Given the description of an element on the screen output the (x, y) to click on. 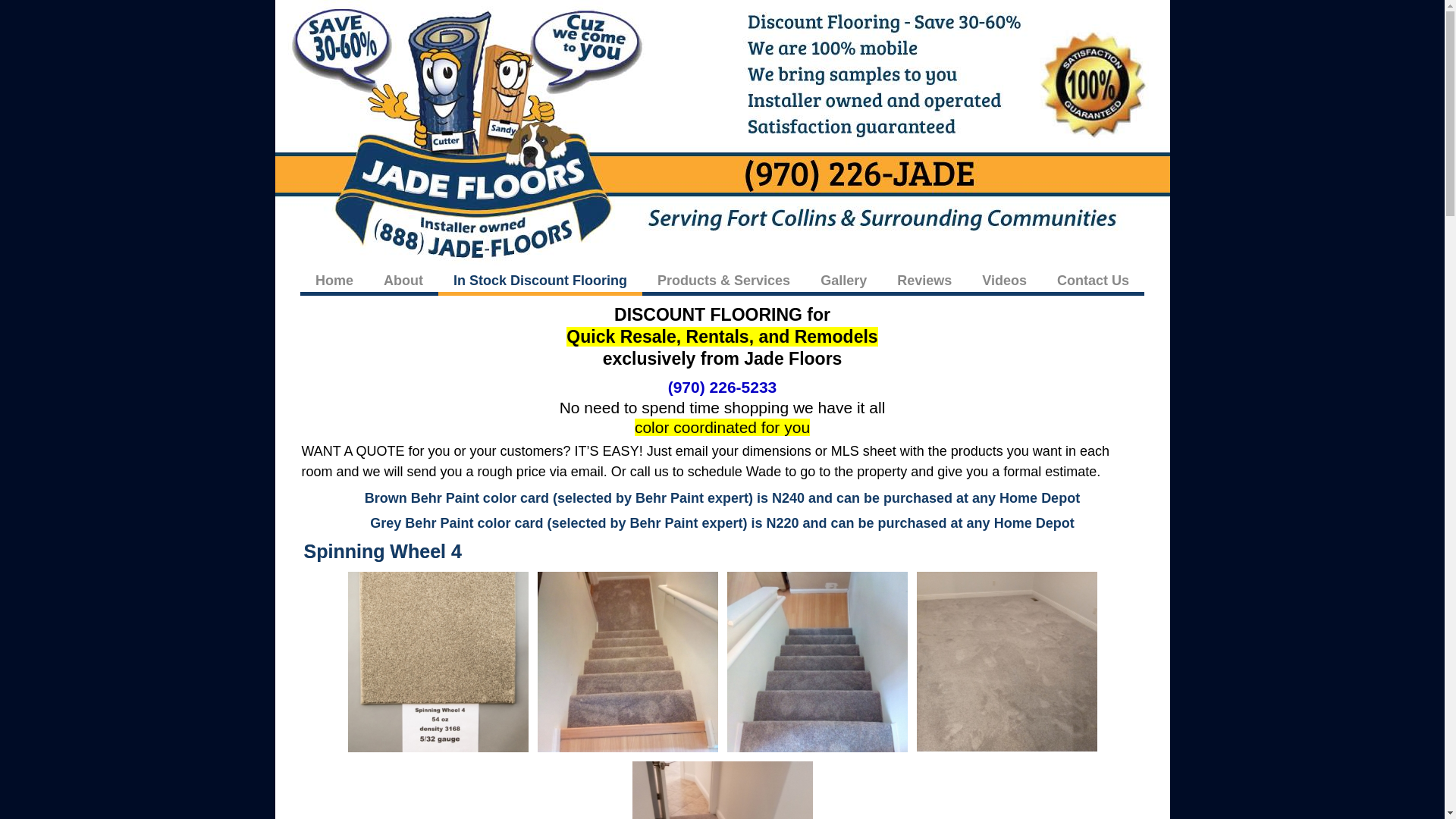
Home (333, 280)
Spinning-Wheel-4-Carpet-Fort-Collins-03 (816, 661)
Contact Us (1093, 280)
In Stock Discount Flooring (540, 280)
Spinning-Wheel-4-Carpet-Fort-Collins-04 (1006, 661)
Spinning-Wheel-4-Carpet-Fort-Collins-02 (627, 661)
Spinning-Wheel-4-Carpet-Fort-Collins-01 (437, 661)
Reviews (924, 280)
Spinning-Wheel-4-Carpet-Fort-Collins-05 (722, 790)
About (403, 280)
Videos (1004, 280)
Gallery (843, 280)
